Given the description of an element on the screen output the (x, y) to click on. 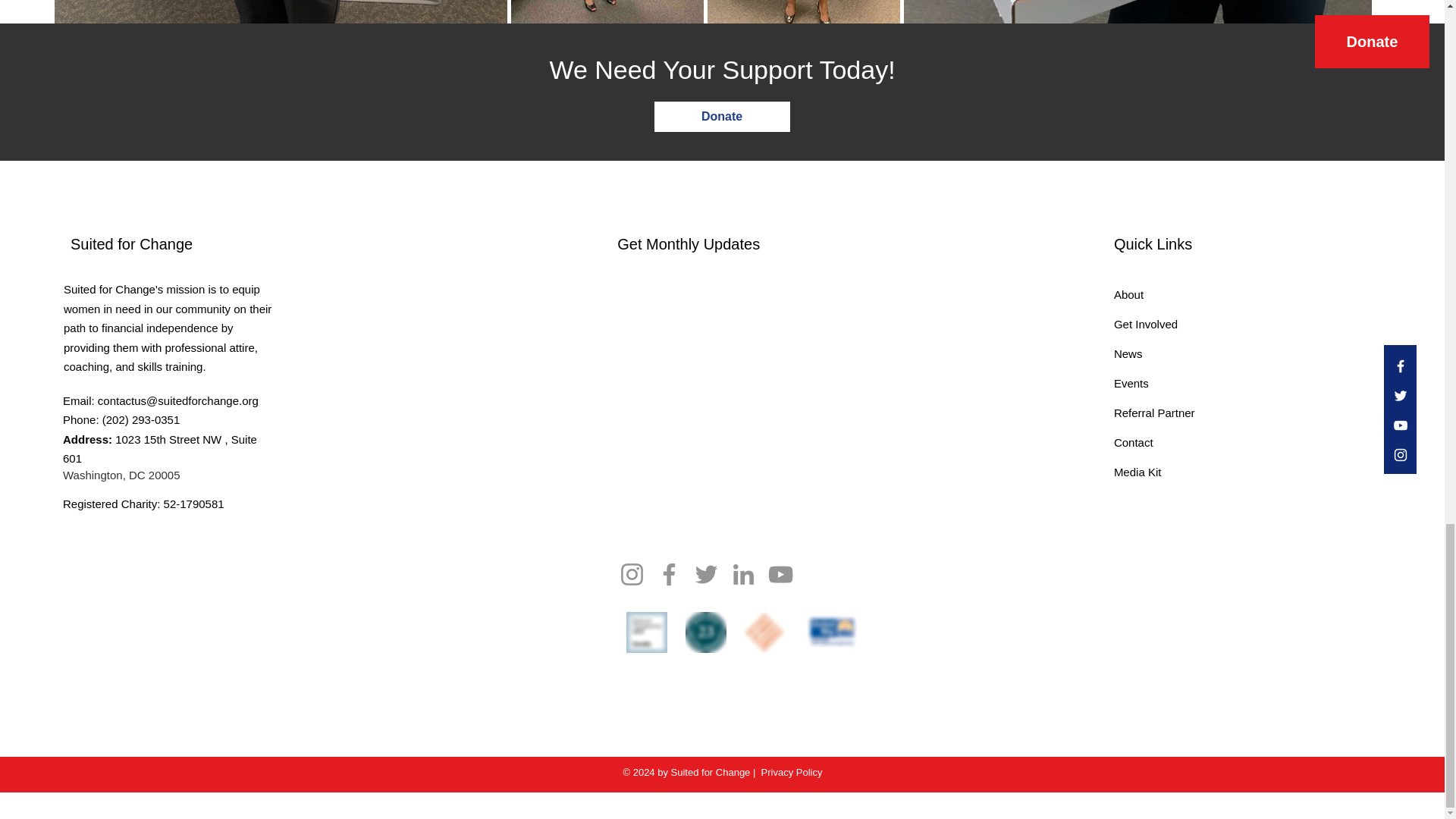
Spur Local Critical Nonprofit (705, 631)
The Alliance of Career Development Nonprofits (764, 631)
